Given the description of an element on the screen output the (x, y) to click on. 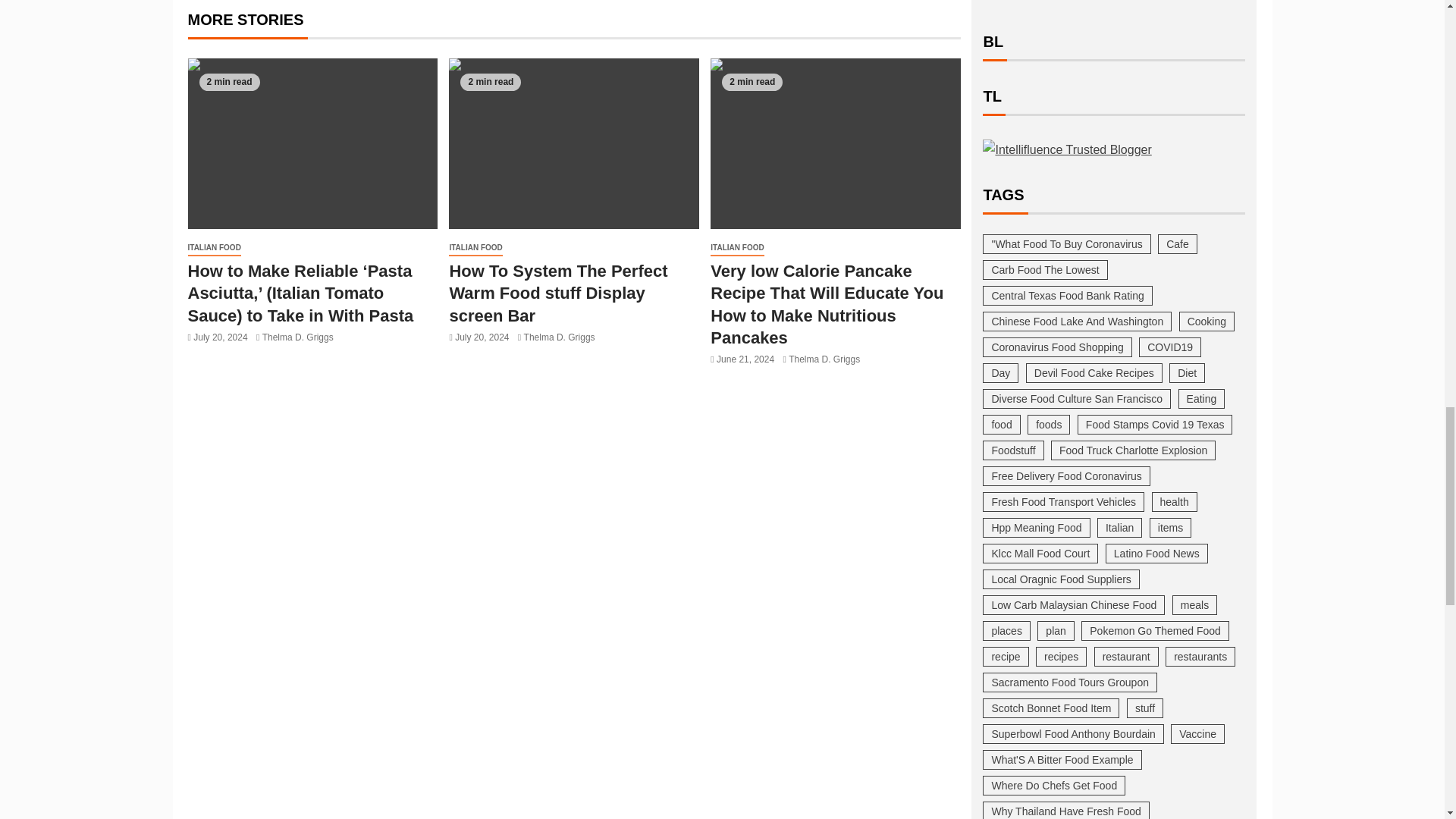
How To System The Perfect Warm Food stuff Display screen Bar (573, 143)
ITALIAN FOOD (214, 248)
